Given the description of an element on the screen output the (x, y) to click on. 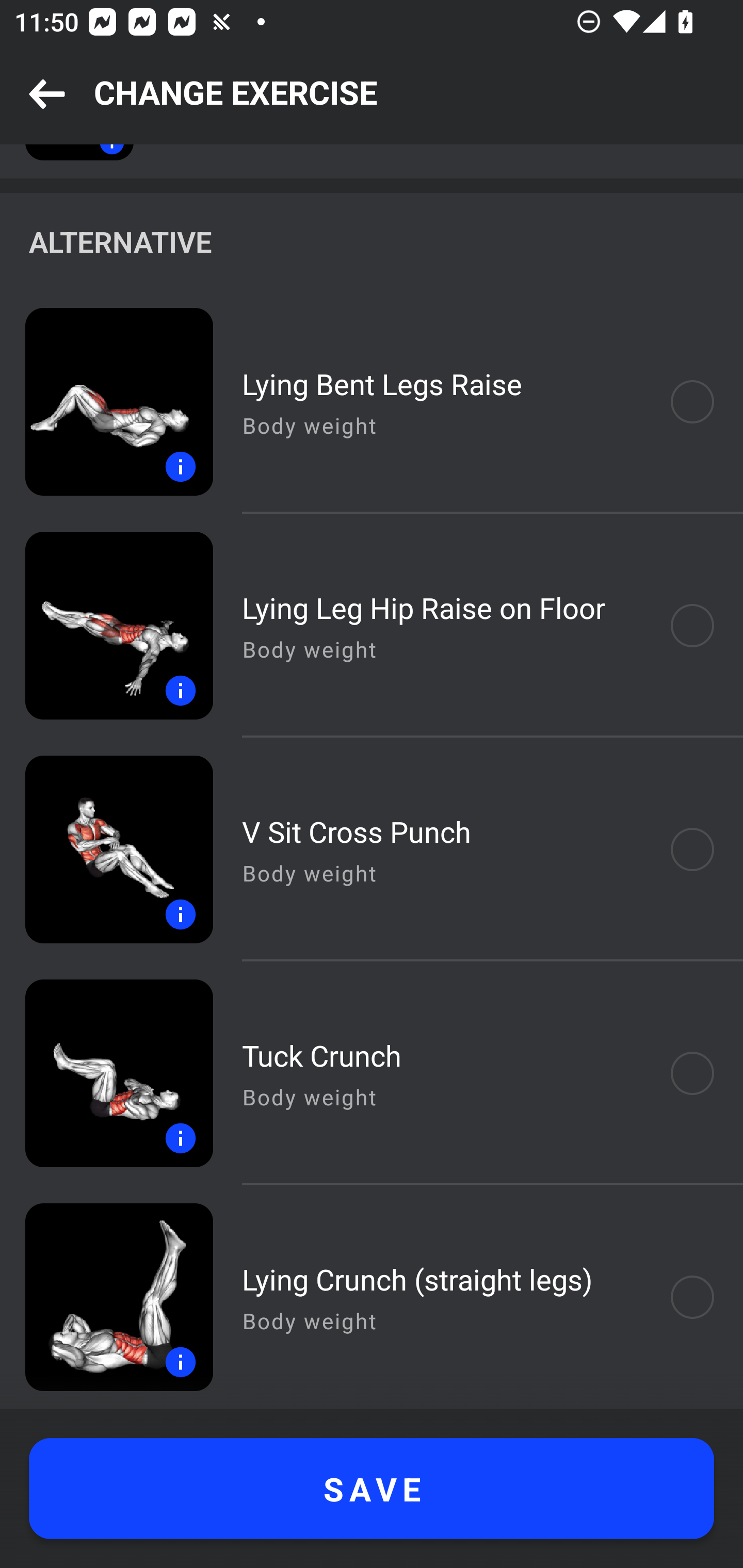
Navigation icon (46, 94)
details Lying Bent Legs Raise Body weight (371, 402)
details (106, 402)
details Lying Leg Hip Raise on Floor Body weight (371, 625)
details (106, 625)
details V Sit Cross Punch Body weight (371, 848)
details (106, 848)
details Tuck Crunch Body weight (371, 1073)
details (106, 1073)
details Lying Crunch (straight legs) Body weight (371, 1297)
details (106, 1297)
SAVE (371, 1488)
